Given the description of an element on the screen output the (x, y) to click on. 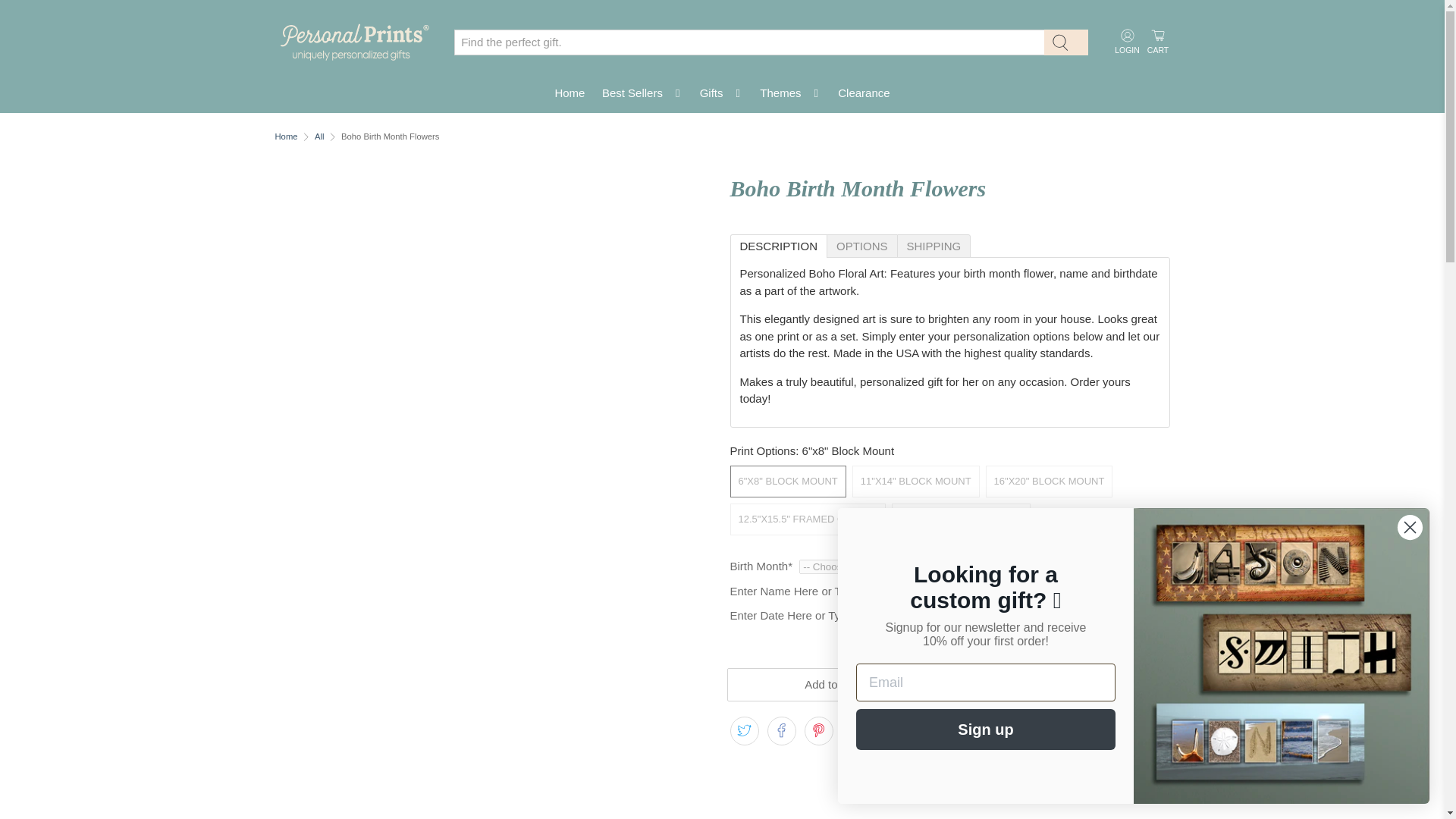
Share this on Pinterest (818, 730)
Themes (790, 93)
Best Sellers (642, 93)
Home (570, 93)
Share this on Twitter (743, 730)
Share this on Facebook (781, 730)
Search (1065, 42)
Clearance (863, 93)
Personal-Prints (286, 136)
Email this to a friend (855, 730)
Gifts (720, 93)
Personal-Prints (353, 42)
